Given the description of an element on the screen output the (x, y) to click on. 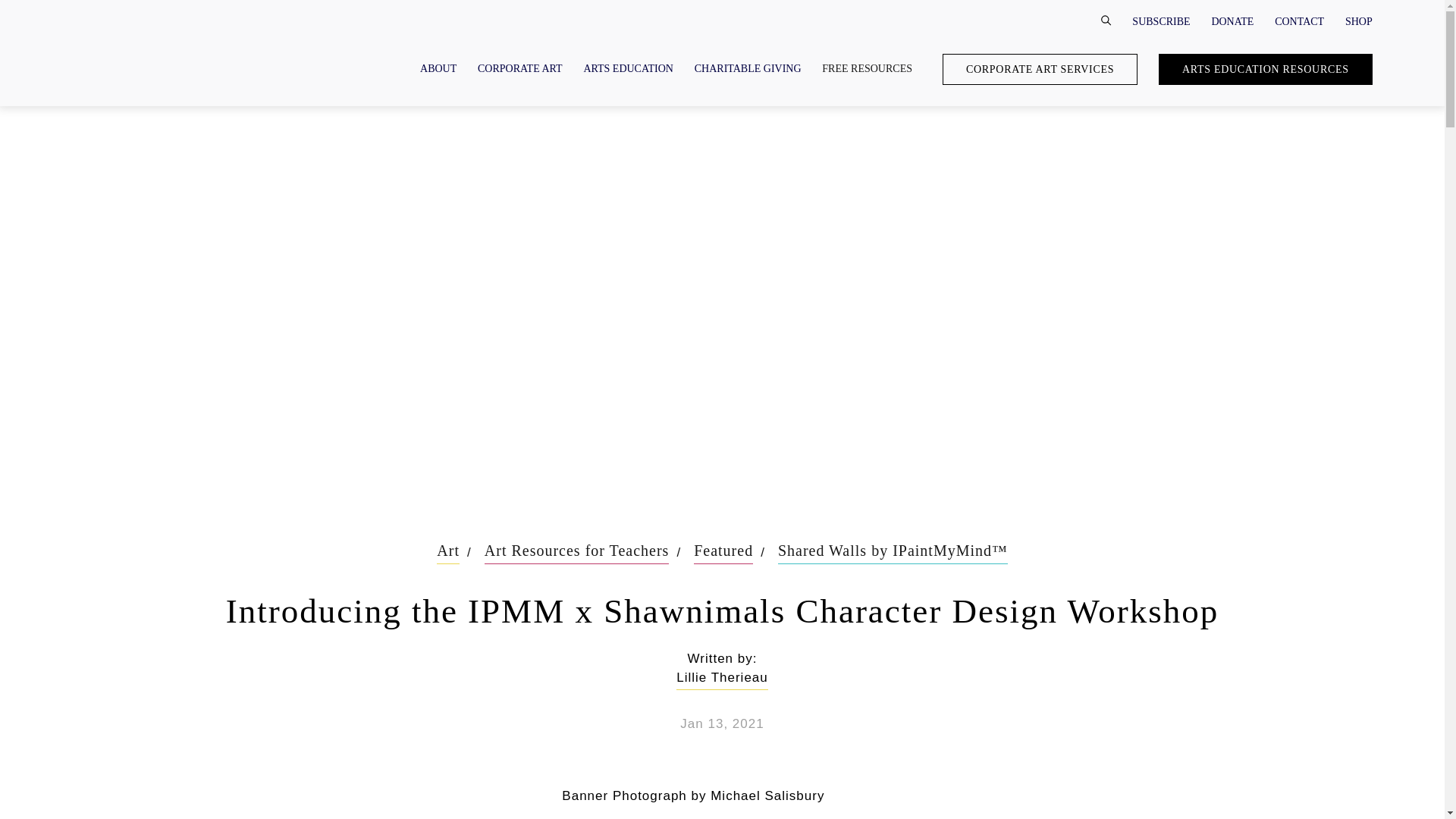
SHOP (1359, 20)
SUBSCRIBE (1160, 20)
CORPORATE ART (519, 68)
CONTACT (1299, 20)
DONATE (1232, 20)
ABOUT (438, 68)
FREE RESOURCES (867, 68)
ARTS EDUCATION RESOURCES (1265, 69)
CORPORATE ART SERVICES (1039, 69)
CHARITABLE GIVING (748, 68)
